Given the description of an element on the screen output the (x, y) to click on. 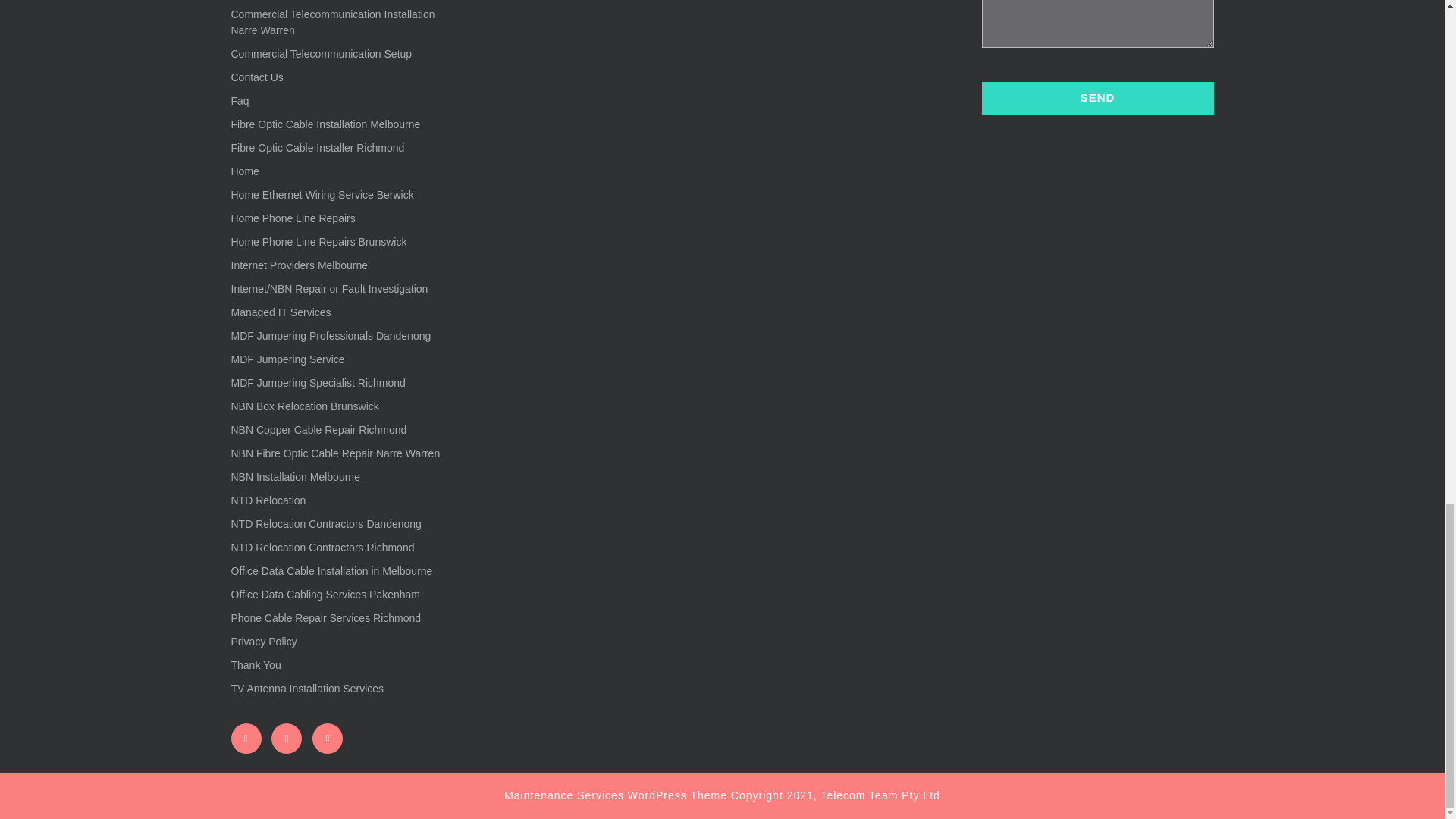
Send (1096, 97)
